Given the description of an element on the screen output the (x, y) to click on. 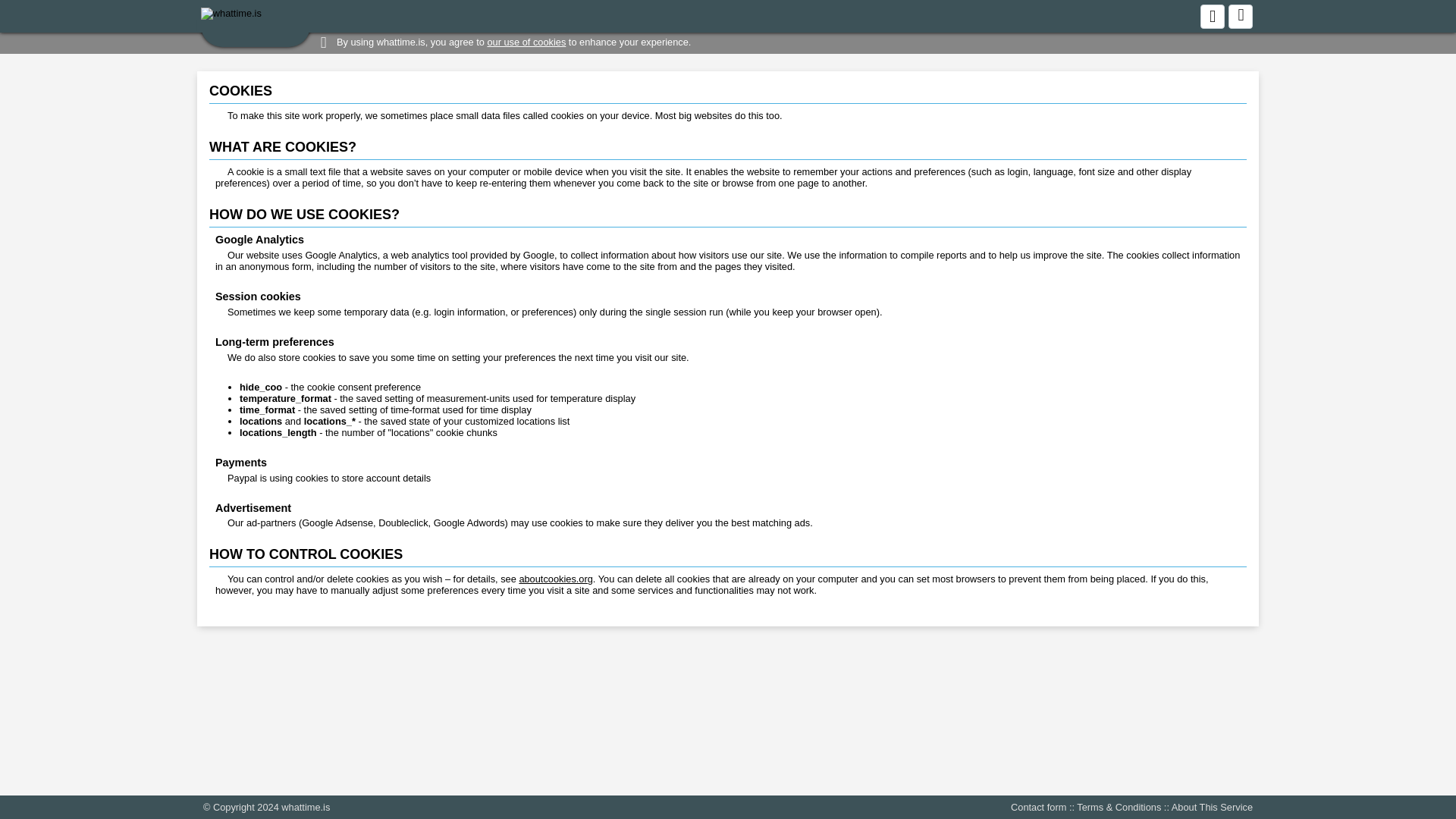
whattime.is (305, 807)
About This Service (1212, 807)
Hide (323, 41)
aboutcookies.org (555, 578)
Change interface Language (1240, 16)
Contact form (1037, 807)
Share (1211, 16)
our use of cookies (526, 41)
